Given the description of an element on the screen output the (x, y) to click on. 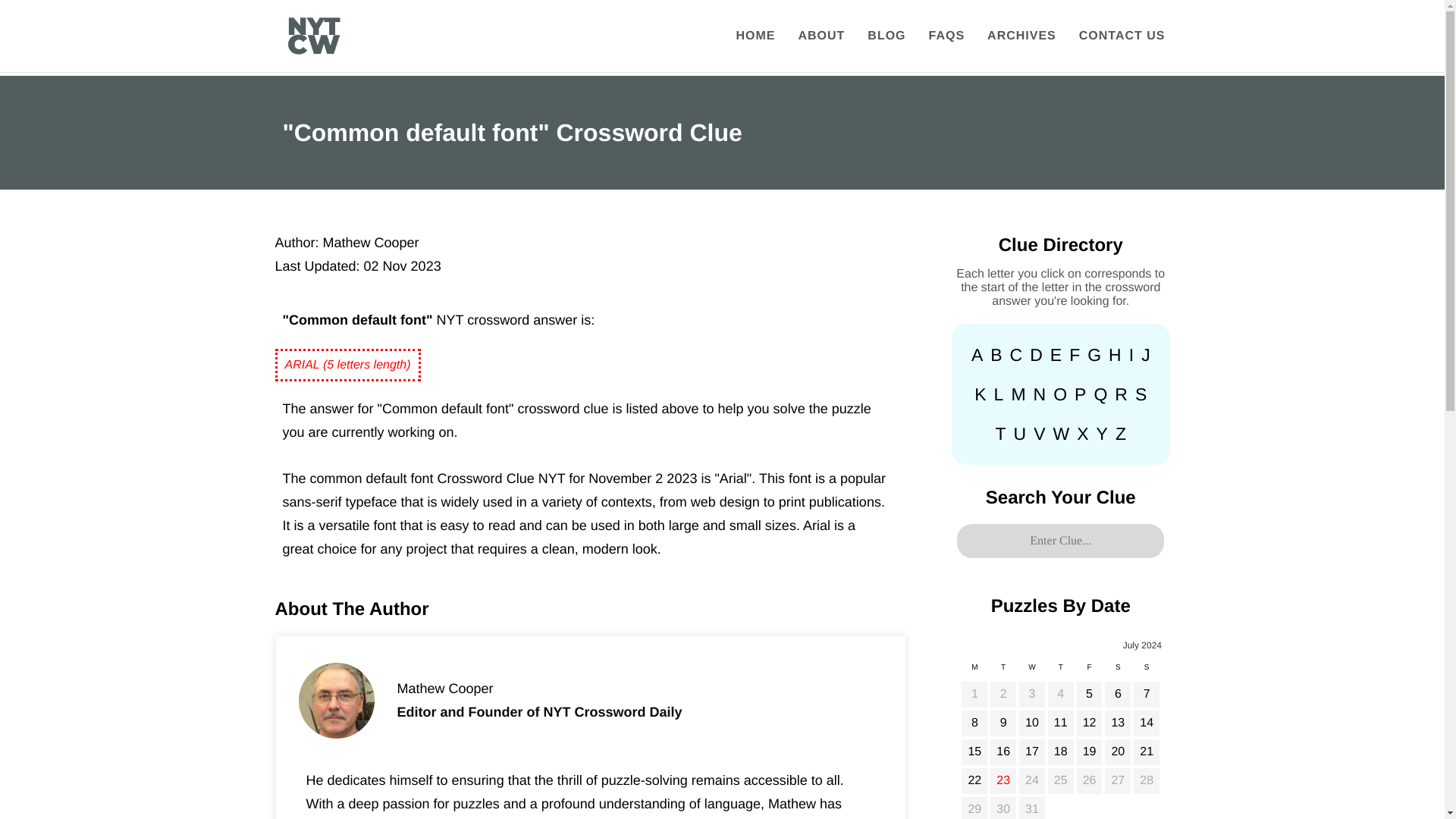
CONTACT US (1122, 35)
G (1093, 355)
FAQS (946, 35)
M (1017, 394)
Q (1099, 394)
Wednesday (1031, 671)
ABOUT (820, 35)
T (1000, 433)
C (1016, 355)
ARCHIVES (1022, 35)
N (1039, 394)
K (979, 394)
H (1114, 355)
HOME (754, 35)
F (1074, 355)
